Given the description of an element on the screen output the (x, y) to click on. 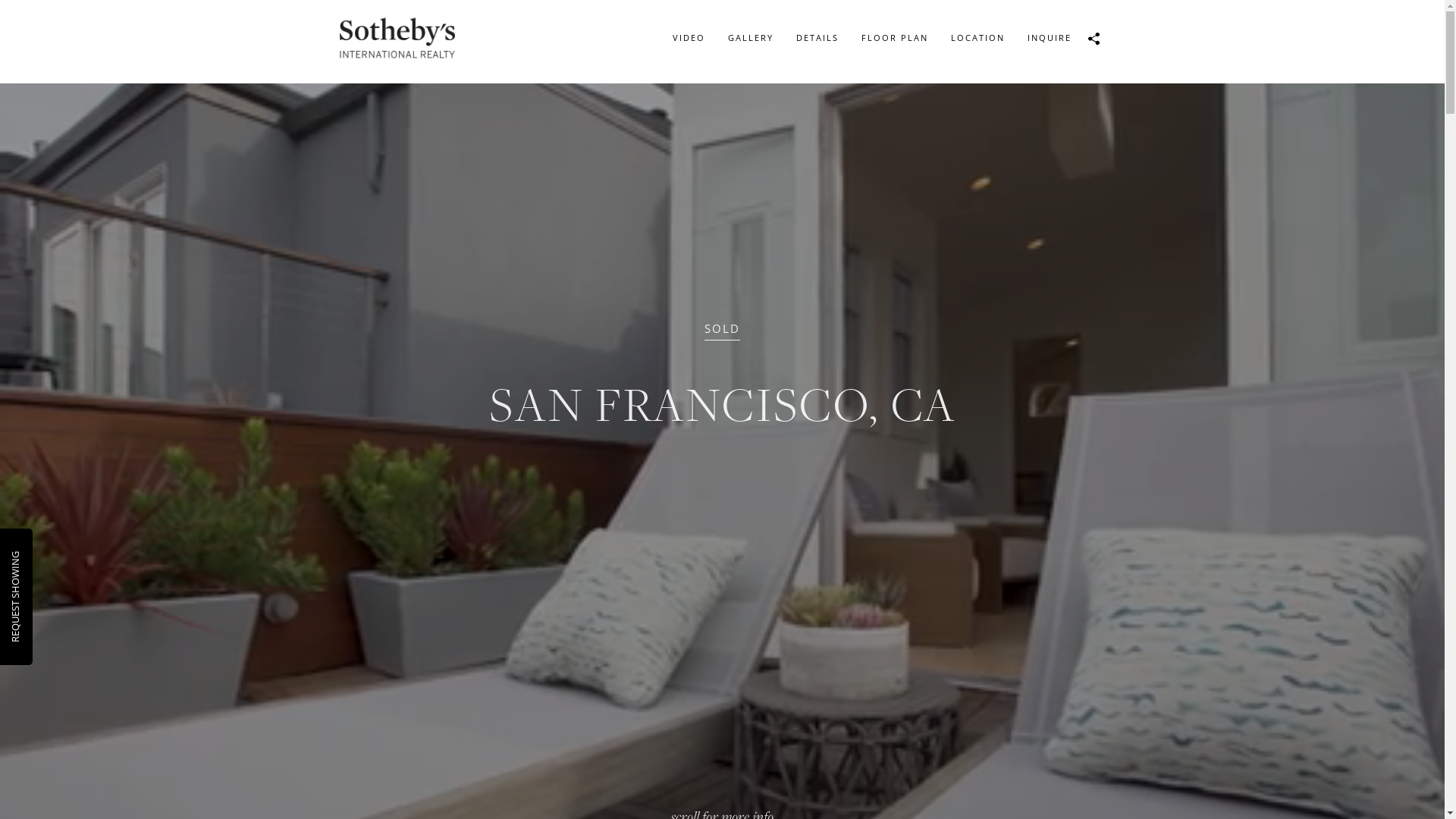
DETAILS Element type: text (816, 37)
INQUIRE Element type: text (1049, 37)
FLOOR PLAN Element type: text (893, 37)
LOCATION Element type: text (976, 37)
REQUEST SHOWING Element type: text (53, 557)
GALLERY Element type: text (749, 37)
VIDEO Element type: text (688, 37)
